Given the description of an element on the screen output the (x, y) to click on. 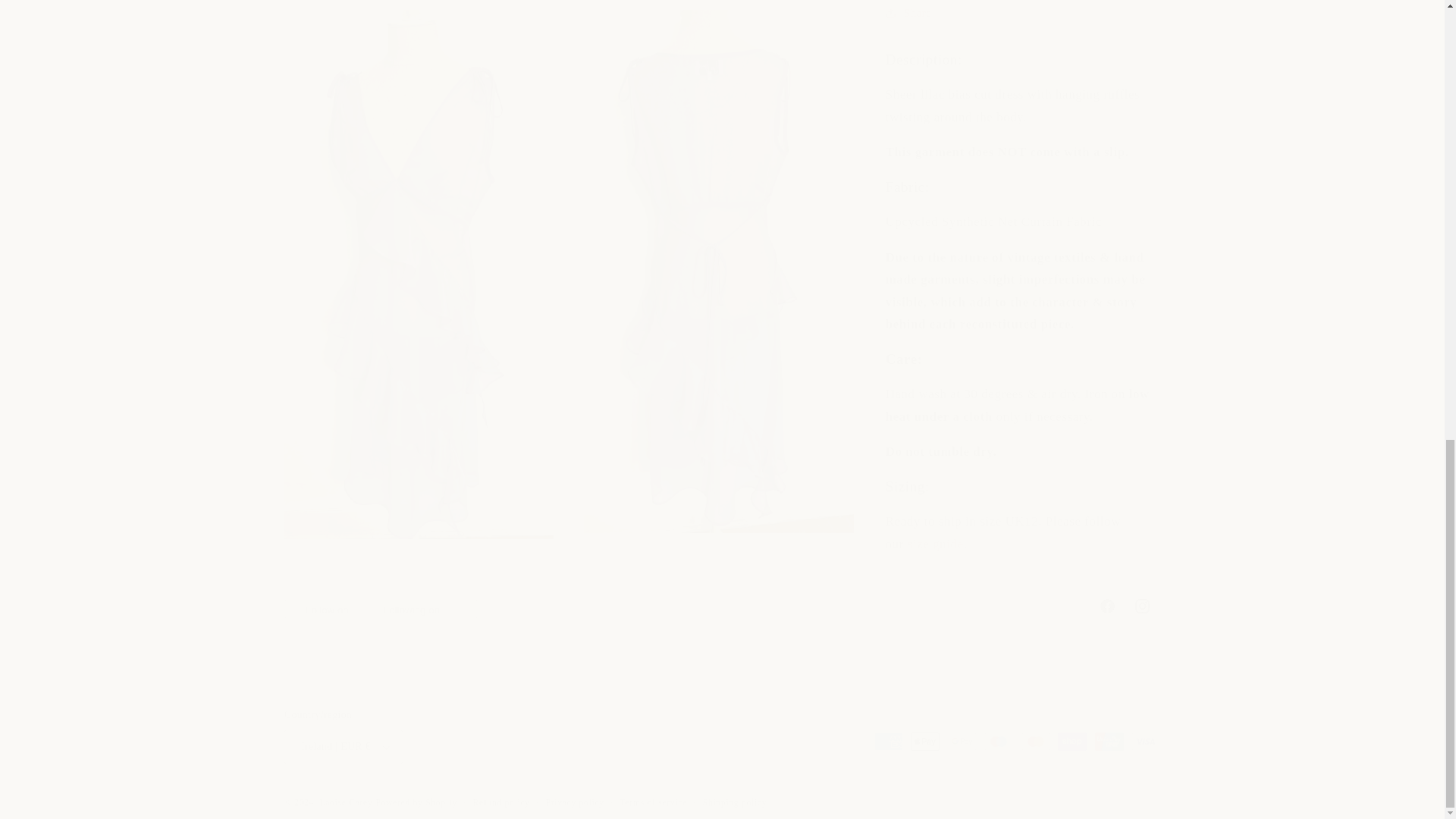
Size Guide (935, 240)
